Given the description of an element on the screen output the (x, y) to click on. 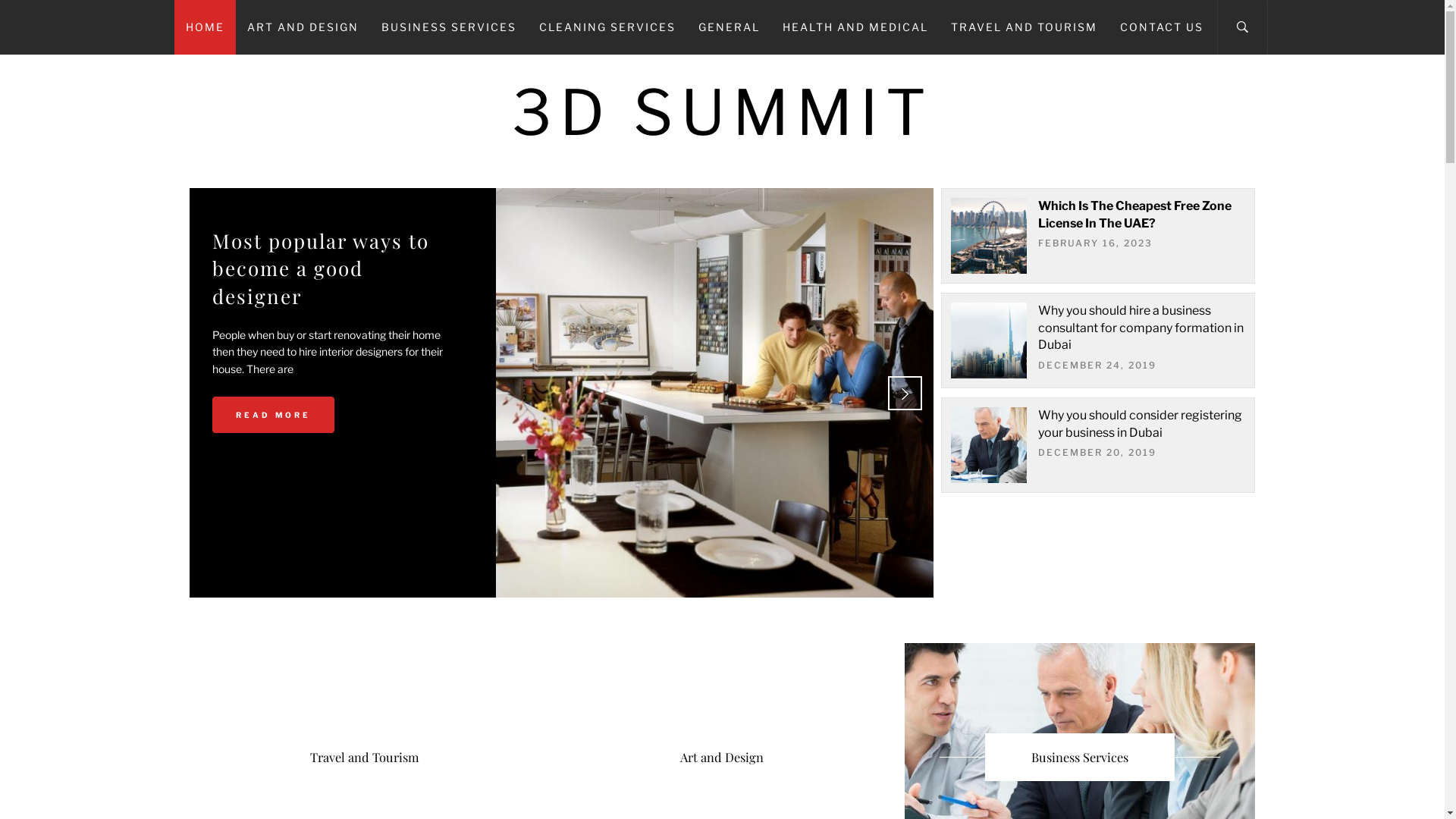
GENERAL Element type: text (729, 27)
BUSINESS SERVICES Element type: text (448, 27)
TRAVEL AND TOURISM Element type: text (1022, 27)
CONTACT US Element type: text (1161, 27)
Business Services Element type: text (1079, 756)
HEALTH AND MEDICAL Element type: text (854, 27)
READ MORE Element type: text (273, 369)
Travel and Tourism Element type: text (364, 756)
HOME Element type: text (204, 27)
Why you should consider registering your business in Dubai Element type: text (1139, 423)
Search Element type: text (797, 407)
ART AND DESIGN Element type: text (302, 27)
3D SUMMIT Element type: text (721, 112)
DECEMBER 20, 2019 Element type: text (1096, 452)
Art and Design Element type: text (721, 756)
Which Is The Cheapest Free Zone License In The UAE? Element type: text (1133, 213)
FEBRUARY 16, 2023 Element type: text (1094, 242)
CLEANING SERVICES Element type: text (607, 27)
DECEMBER 24, 2019 Element type: text (1096, 364)
